Given the description of an element on the screen output the (x, y) to click on. 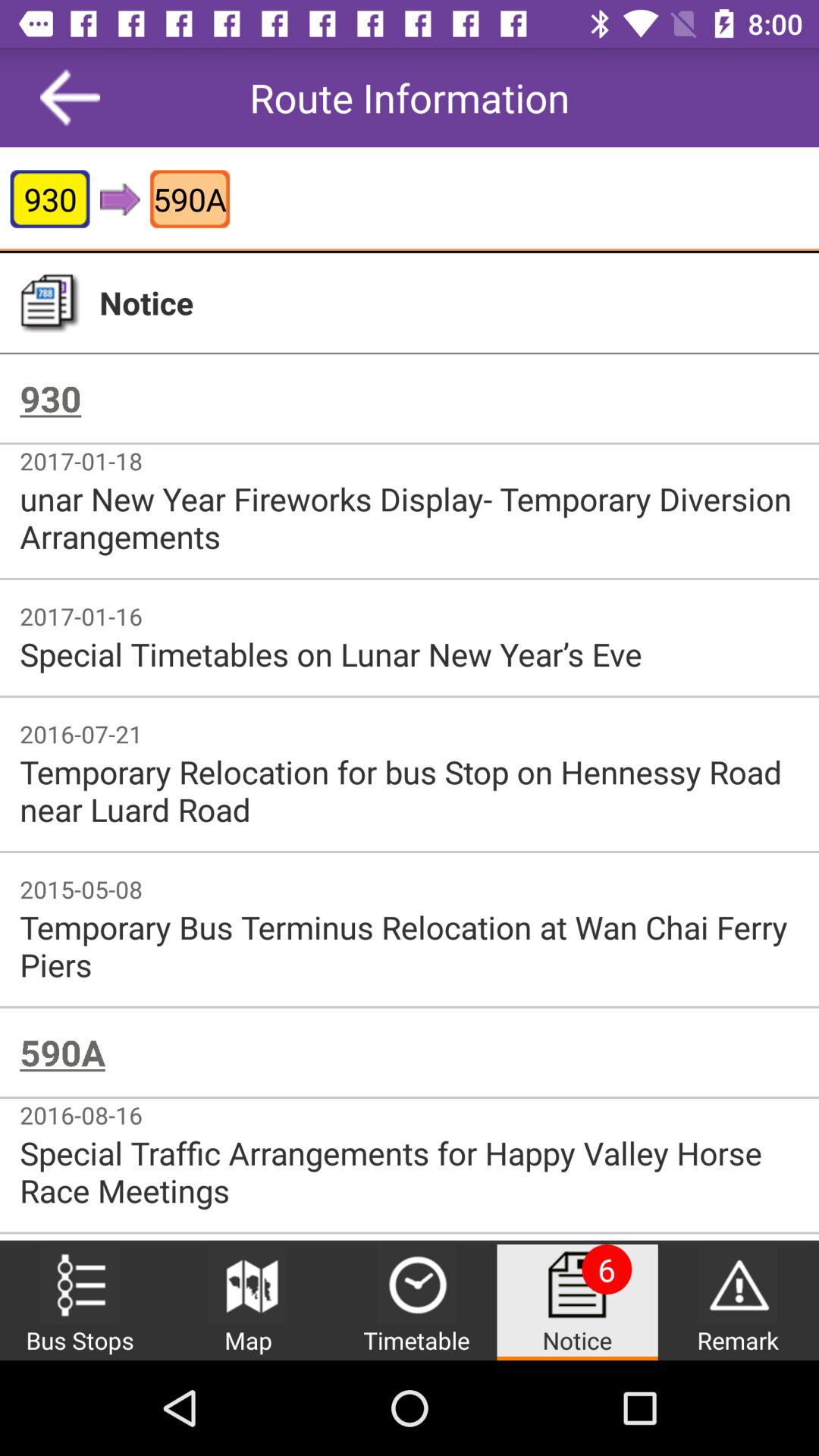
click on bus stops icon beside map icon (79, 1283)
click on icon beside notice at the top of the web page (49, 303)
